Given the description of an element on the screen output the (x, y) to click on. 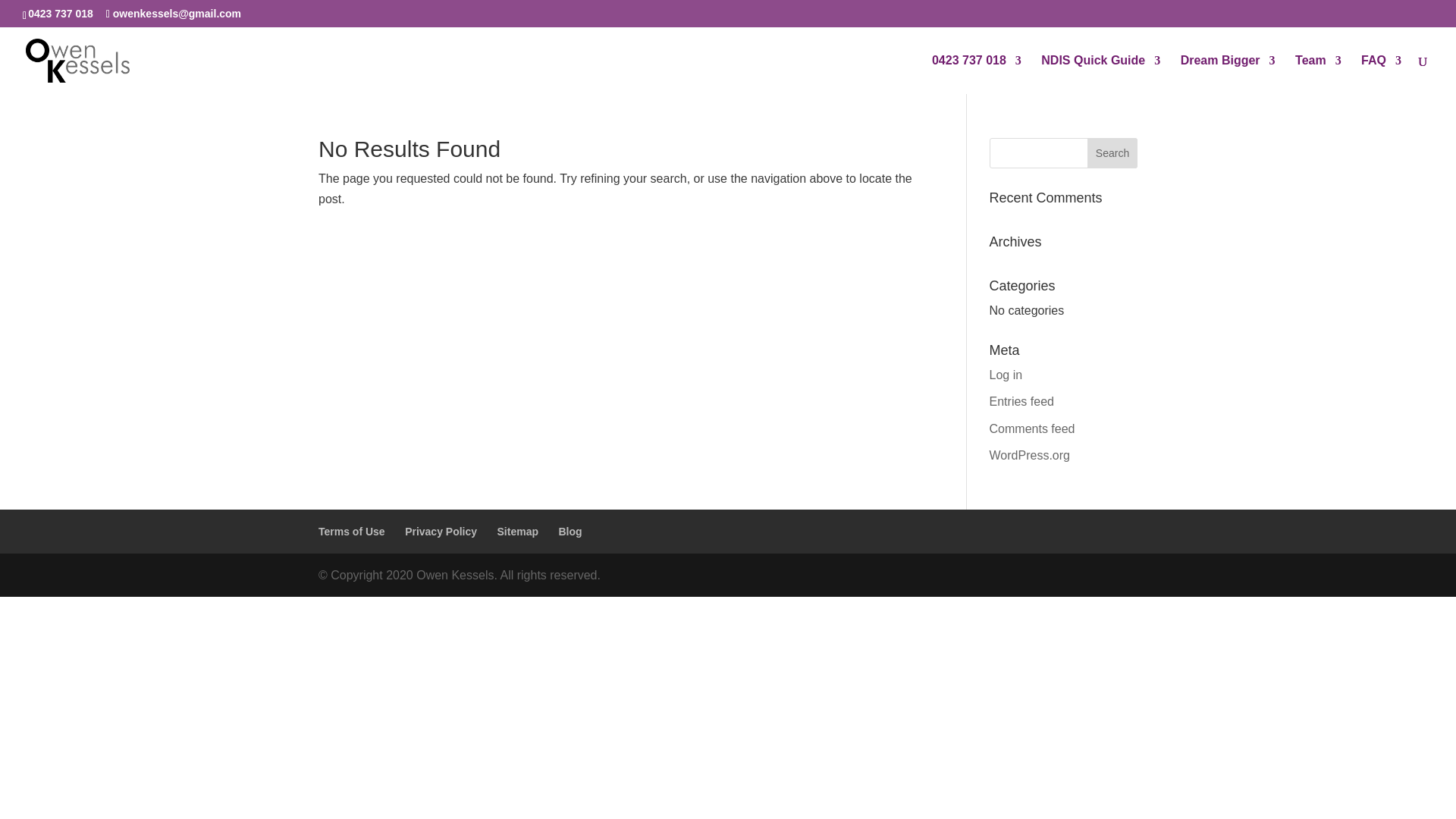
Team (1317, 74)
NDIS Quick Guide (1100, 74)
FAQ (1380, 74)
0423 737 018 (976, 74)
0423 737 018 (60, 13)
Search (1112, 153)
Dream Bigger (1227, 74)
